Given the description of an element on the screen output the (x, y) to click on. 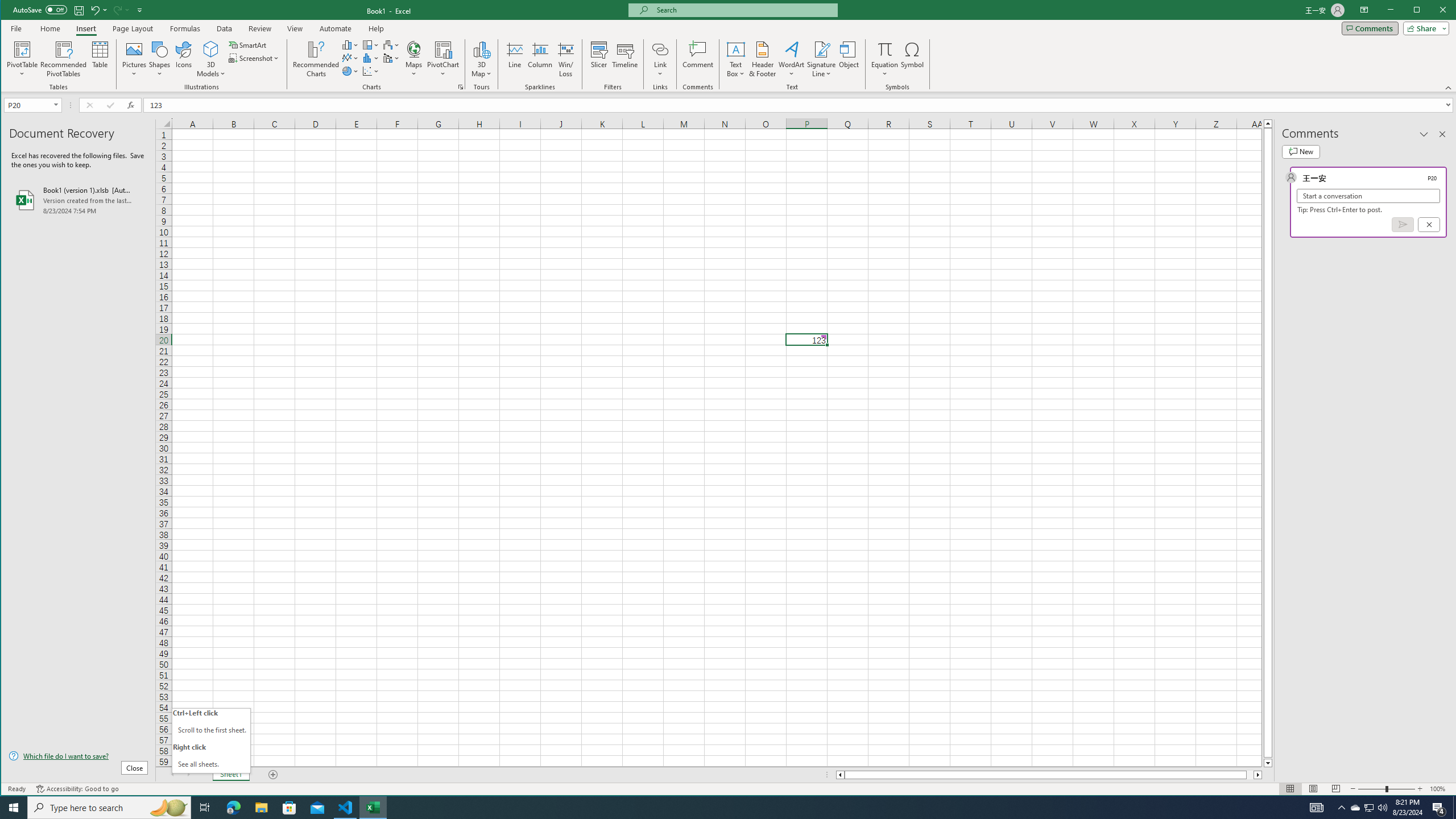
Screenshot (254, 57)
Page Break Preview (1335, 788)
Recommended Charts (460, 86)
Column right (1258, 774)
Normal (1290, 788)
View (294, 28)
Line down (1267, 763)
Book1 (version 1).xlsb  [AutoRecovered] (78, 199)
Microsoft Edge (233, 807)
User Promoted Notification Area (1368, 807)
AutomationID: 4105 (1316, 807)
Save (79, 9)
Table (100, 59)
